Given the description of an element on the screen output the (x, y) to click on. 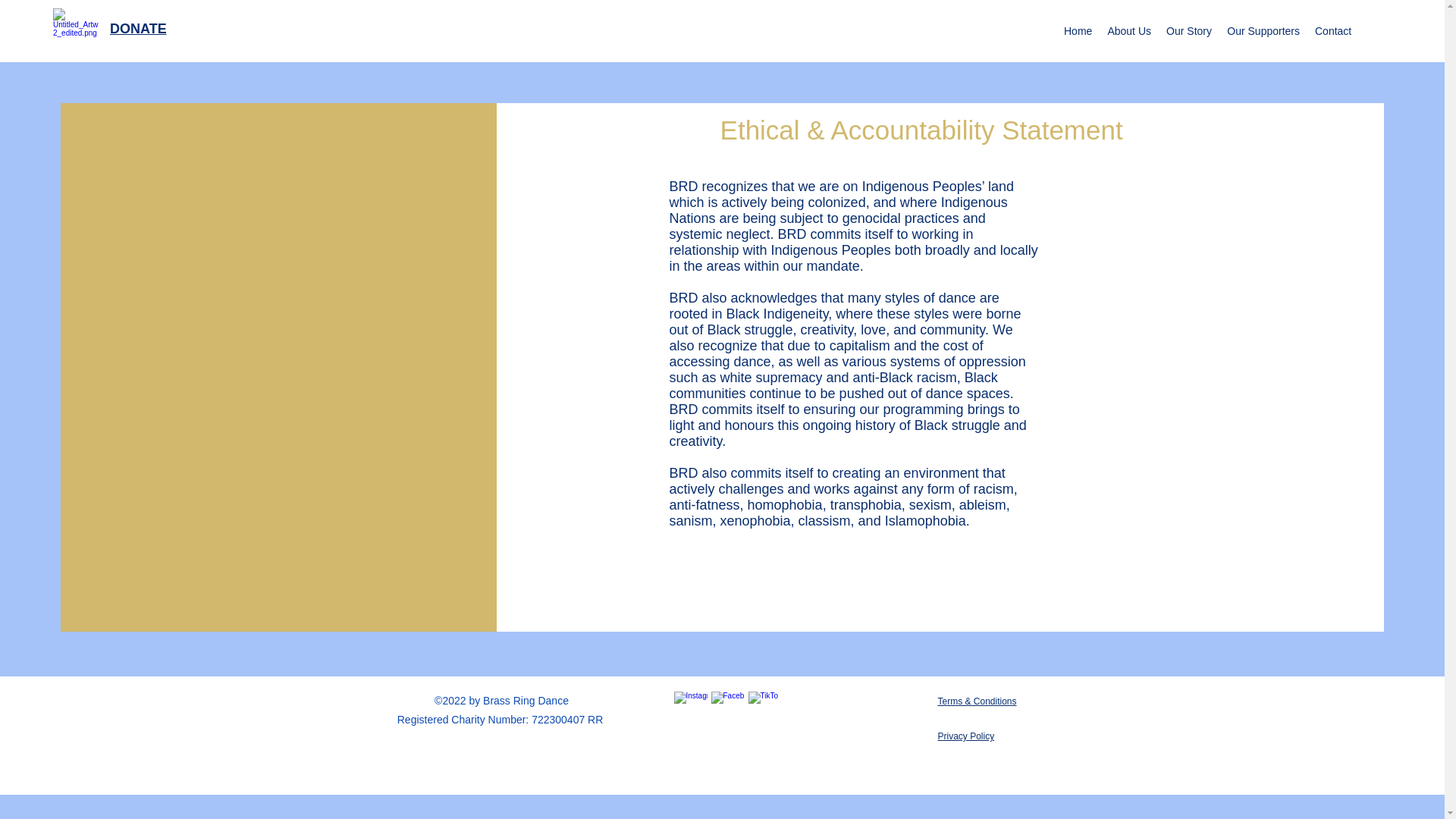
Contact (1332, 30)
Privacy Policy (965, 736)
DONATE (138, 28)
About Us (1128, 30)
Our Story (1189, 30)
Home (1078, 30)
Our Supporters (1263, 30)
